Given the description of an element on the screen output the (x, y) to click on. 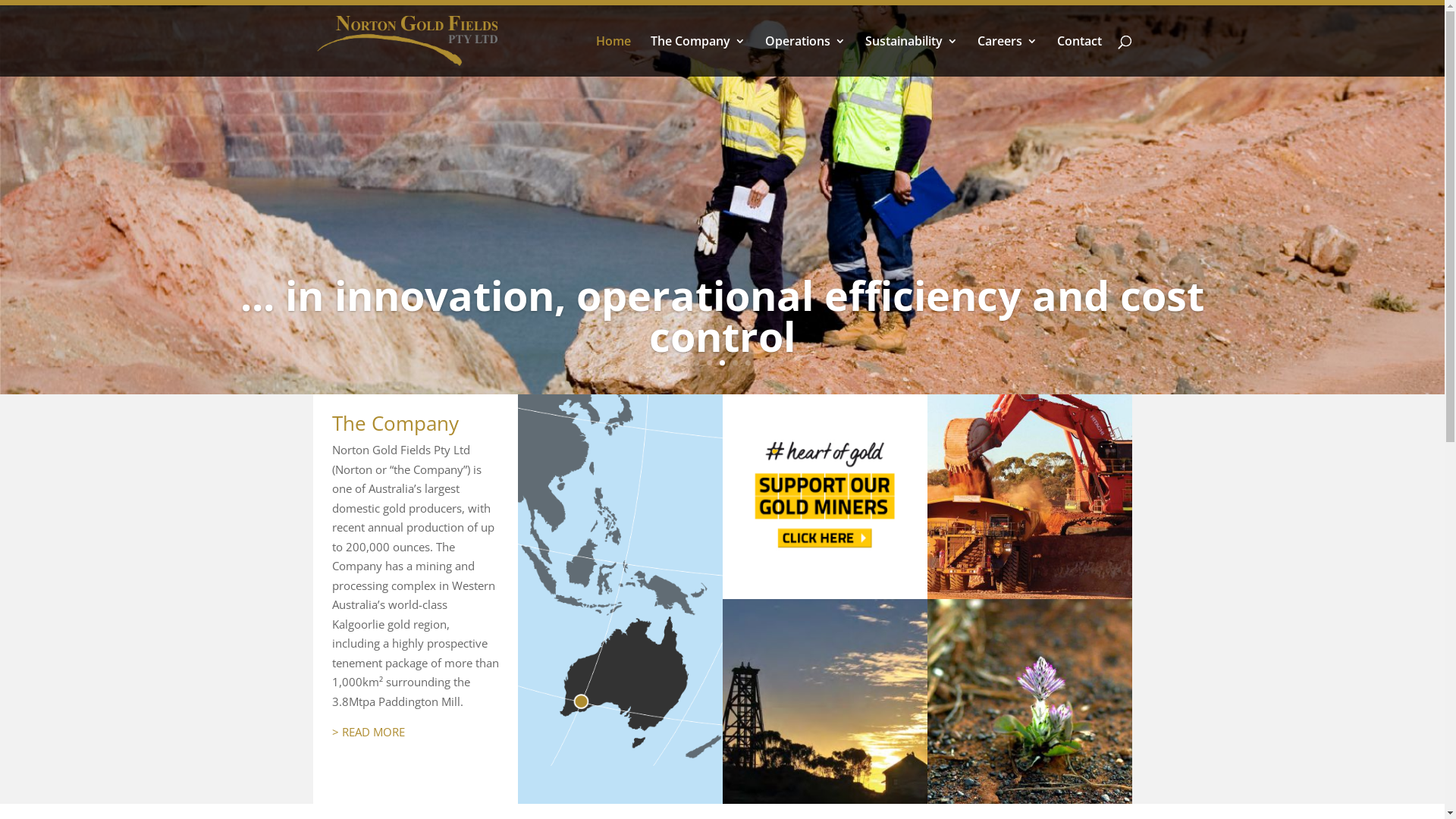
Careers Element type: text (1006, 55)
> READ MORE Element type: text (368, 731)
4 Element type: text (734, 361)
The Company Element type: text (697, 55)
Operations Element type: text (804, 55)
Contact Element type: text (1079, 55)
5 Element type: text (747, 361)
Sustainability Element type: text (910, 55)
Home Element type: text (613, 55)
1 Element type: text (696, 361)
2 Element type: text (709, 361)
3 Element type: text (721, 361)
